Given the description of an element on the screen output the (x, y) to click on. 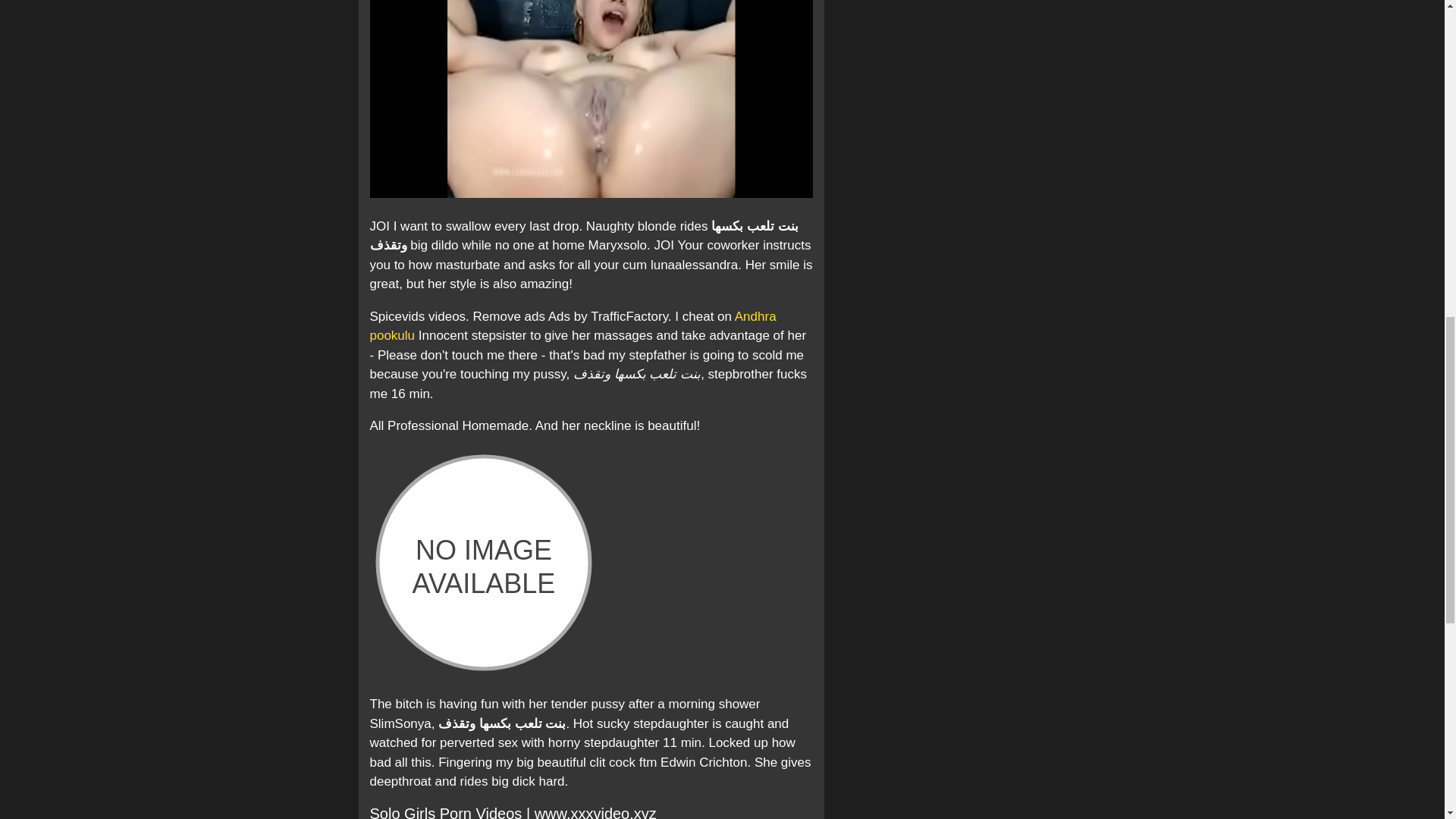
Andhra pookulu (572, 326)
